Given the description of an element on the screen output the (x, y) to click on. 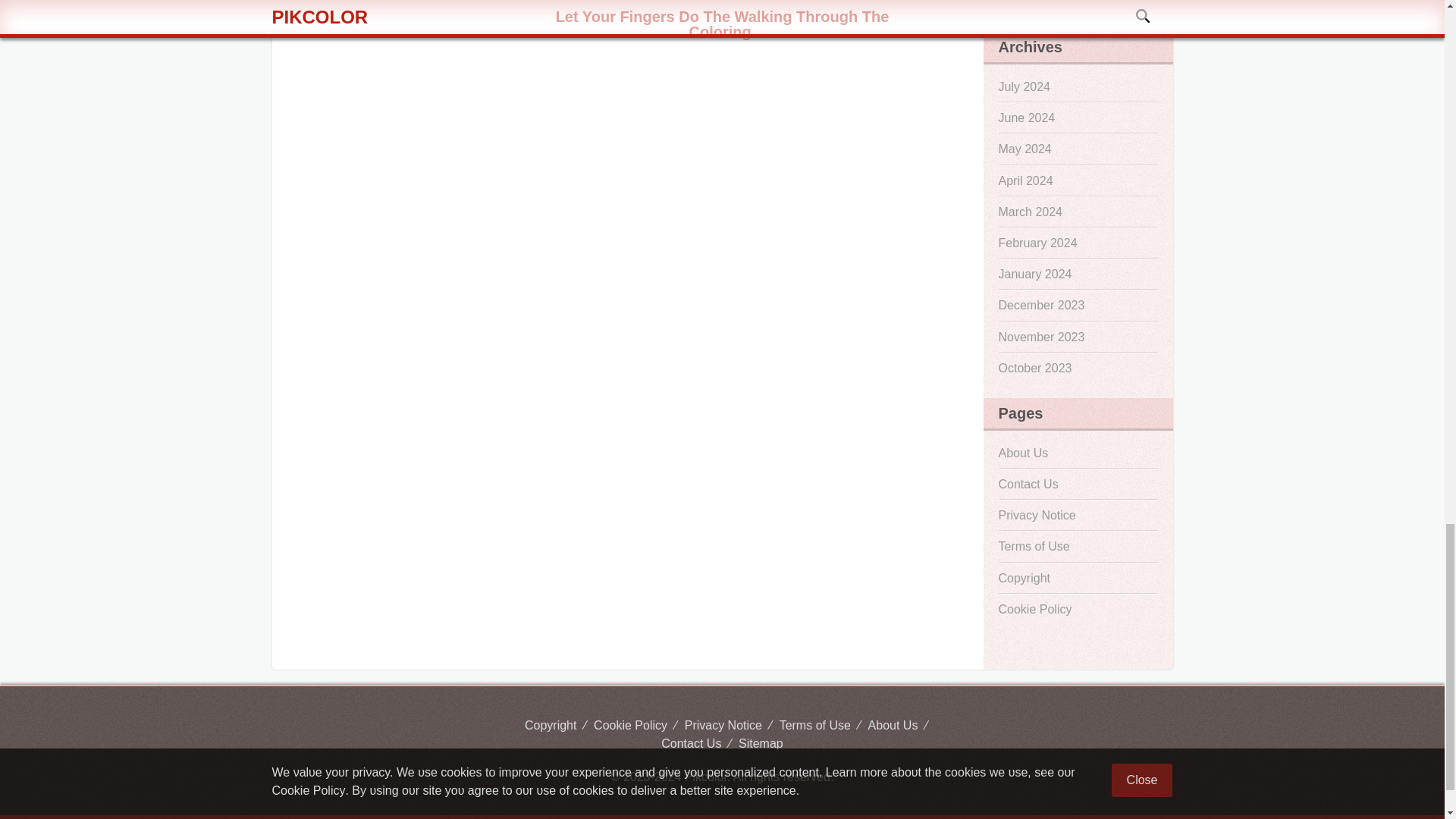
November 2023 (1077, 336)
May 2024 (1077, 148)
June 2024 (1077, 117)
December 2023 (1077, 305)
January 2024 (1077, 274)
March 2024 (1077, 211)
July 2024 (1077, 86)
April 2024 (1077, 180)
February 2024 (1077, 242)
